Given the description of an element on the screen output the (x, y) to click on. 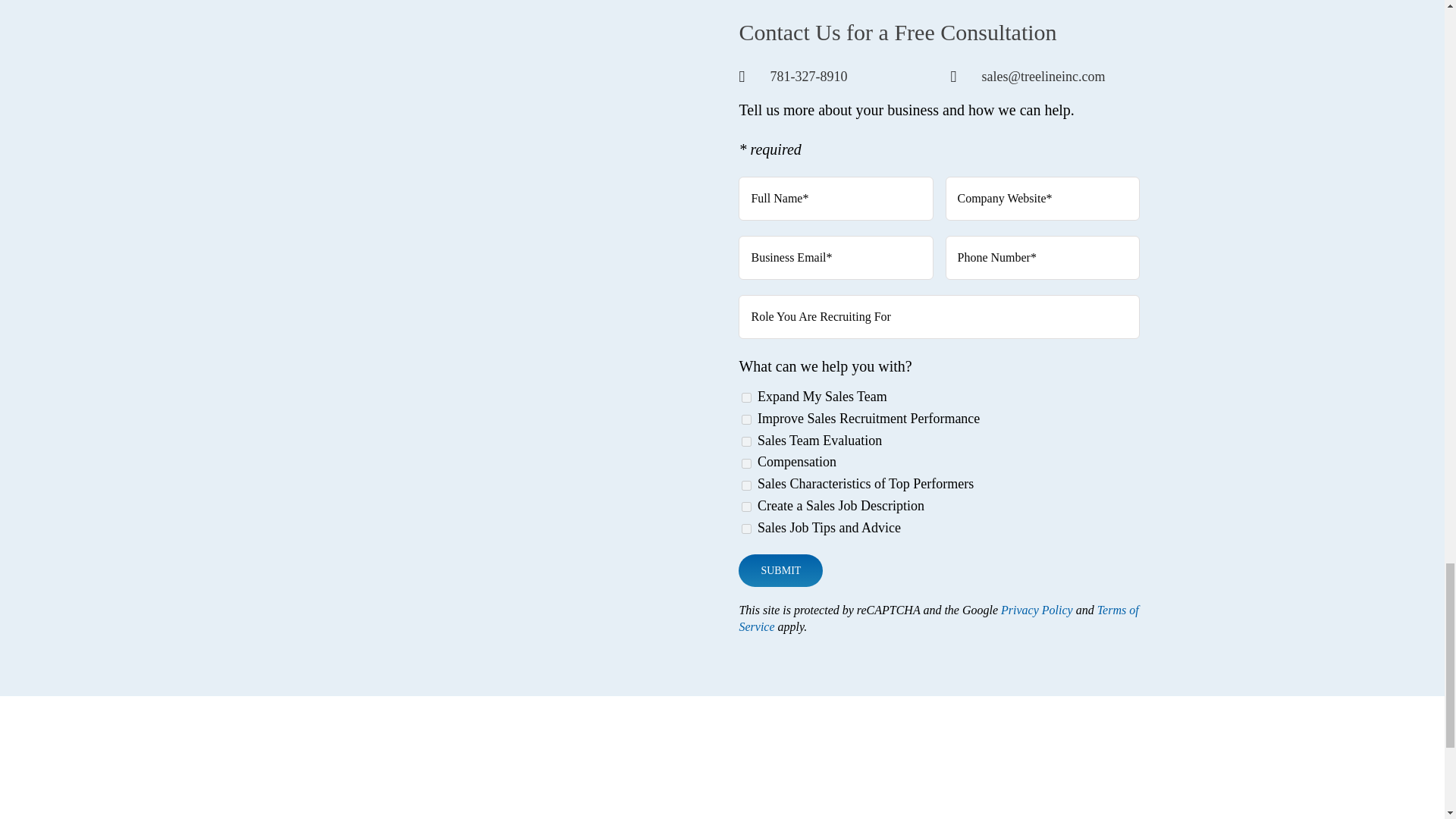
Sales Characteristics of Top Performers (746, 485)
Create a Sales Job Description (746, 506)
Submit (780, 570)
Expand My Sales Team (746, 397)
Compensation (746, 463)
Improve Sales Recruitment Performance (746, 419)
Sales Team Evaluation (746, 441)
Sales Job Tips and Advice (746, 528)
